Given the description of an element on the screen output the (x, y) to click on. 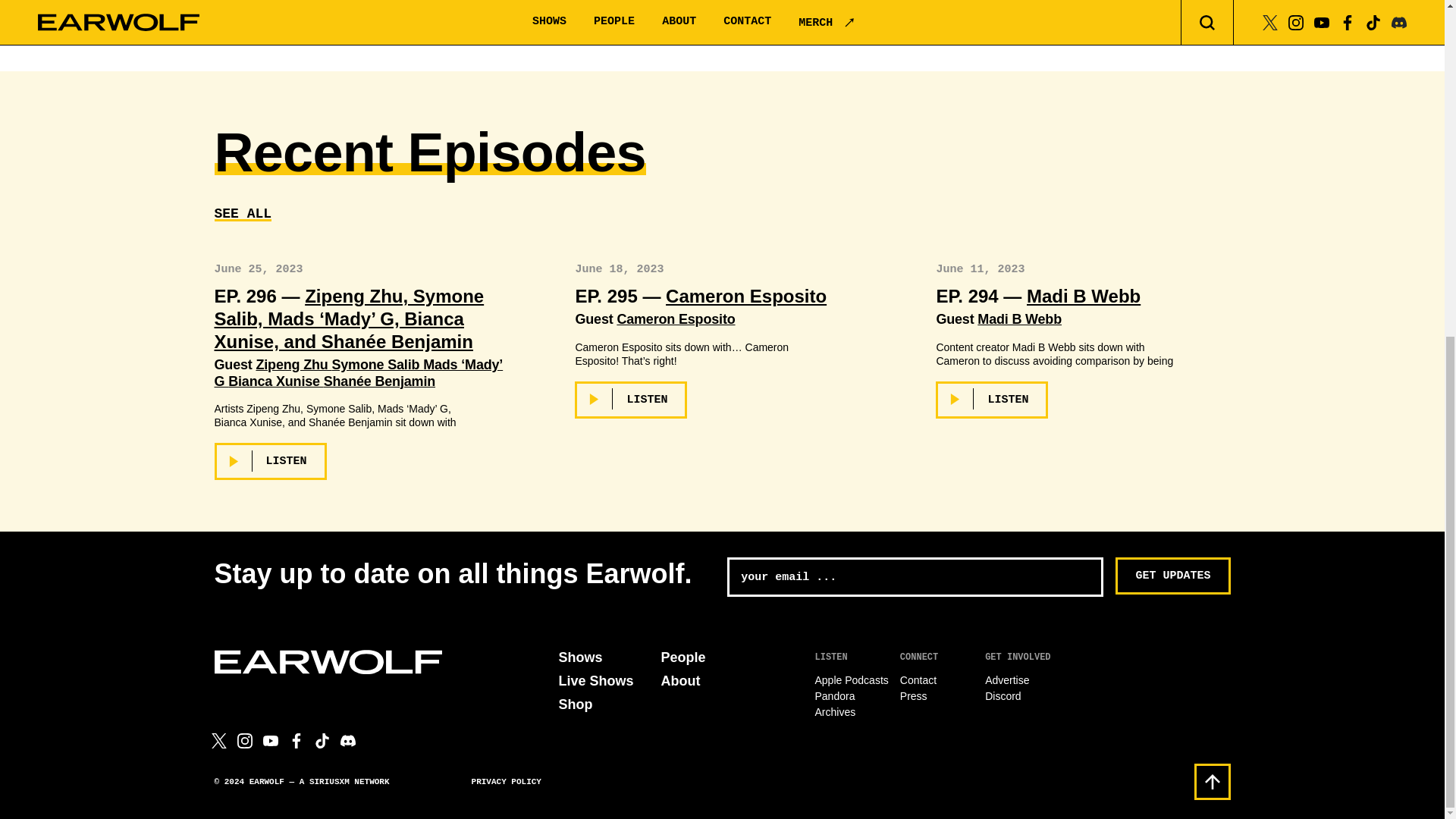
SEE ALL (242, 213)
Get Updates (1172, 575)
Earwolf (327, 662)
Jen Ruggirello (853, 27)
